Given the description of an element on the screen output the (x, y) to click on. 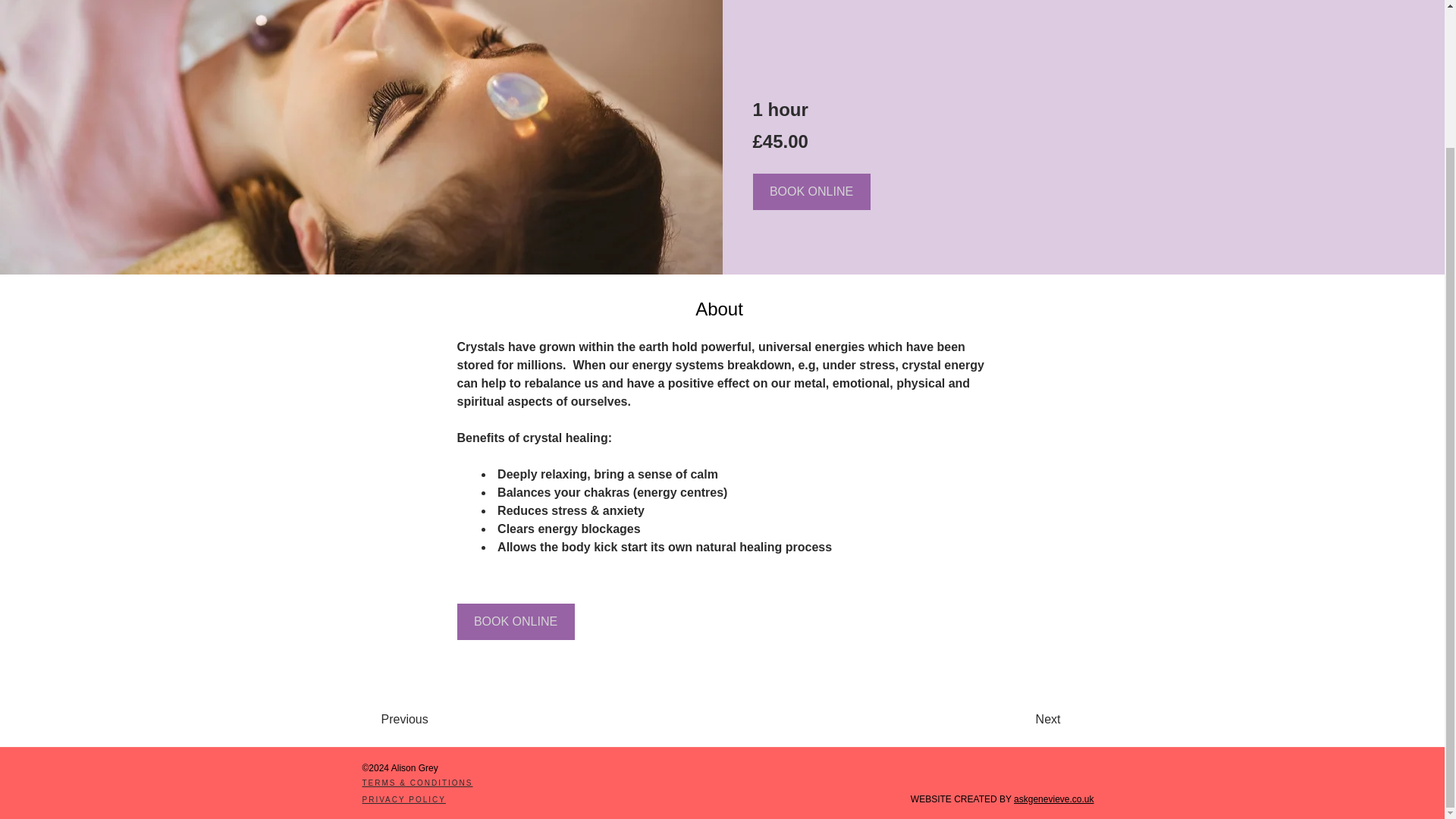
PRIVACY POLICY (403, 799)
Next (1019, 719)
BOOK ONLINE (515, 621)
BOOK ONLINE (810, 191)
Previous (423, 719)
askgenevieve.co.uk (1053, 798)
